Given the description of an element on the screen output the (x, y) to click on. 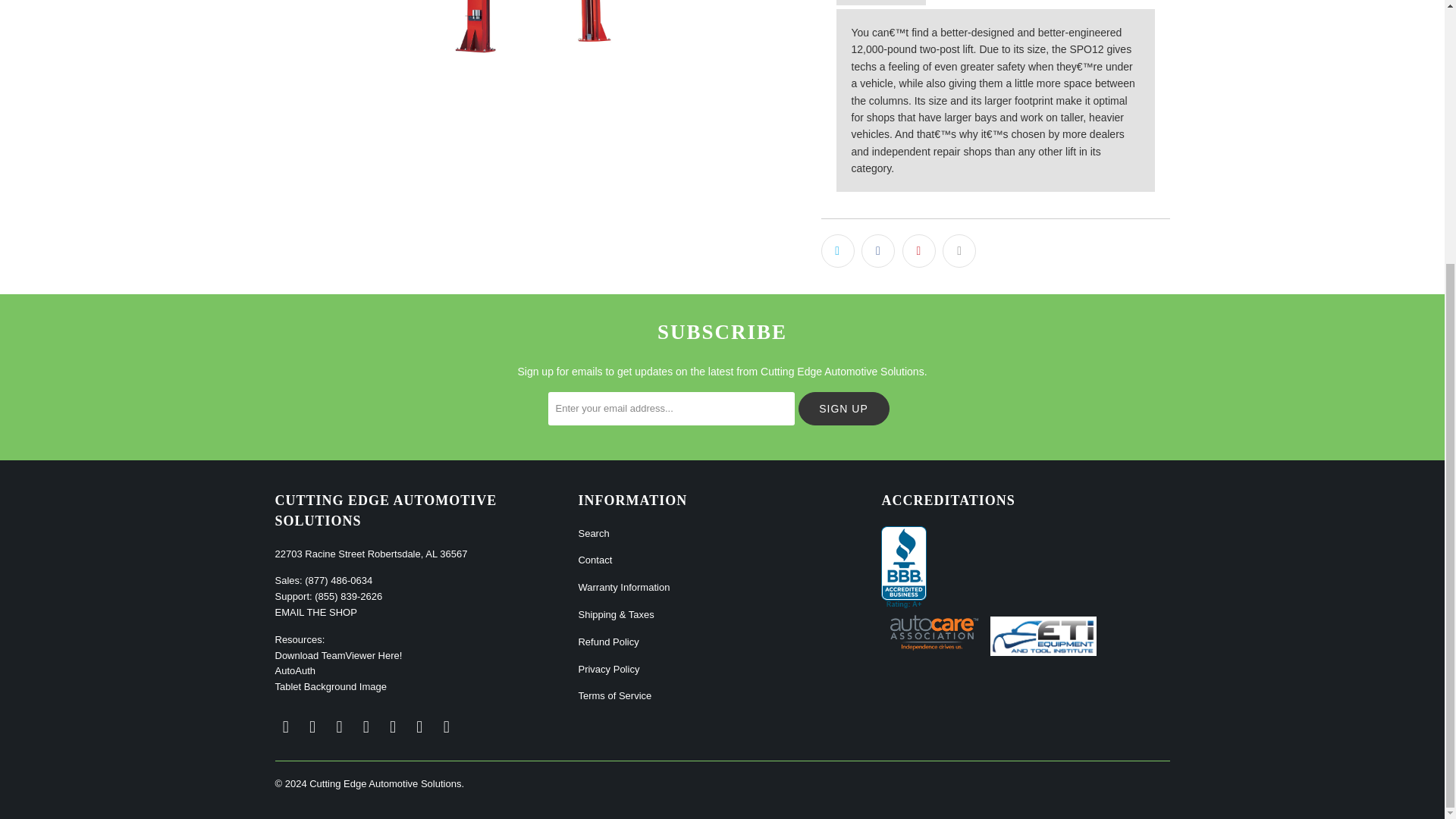
Share this on Twitter (837, 250)
Share this on Facebook (878, 250)
Share this on Pinterest (919, 250)
Sign Up (842, 408)
